Given the description of an element on the screen output the (x, y) to click on. 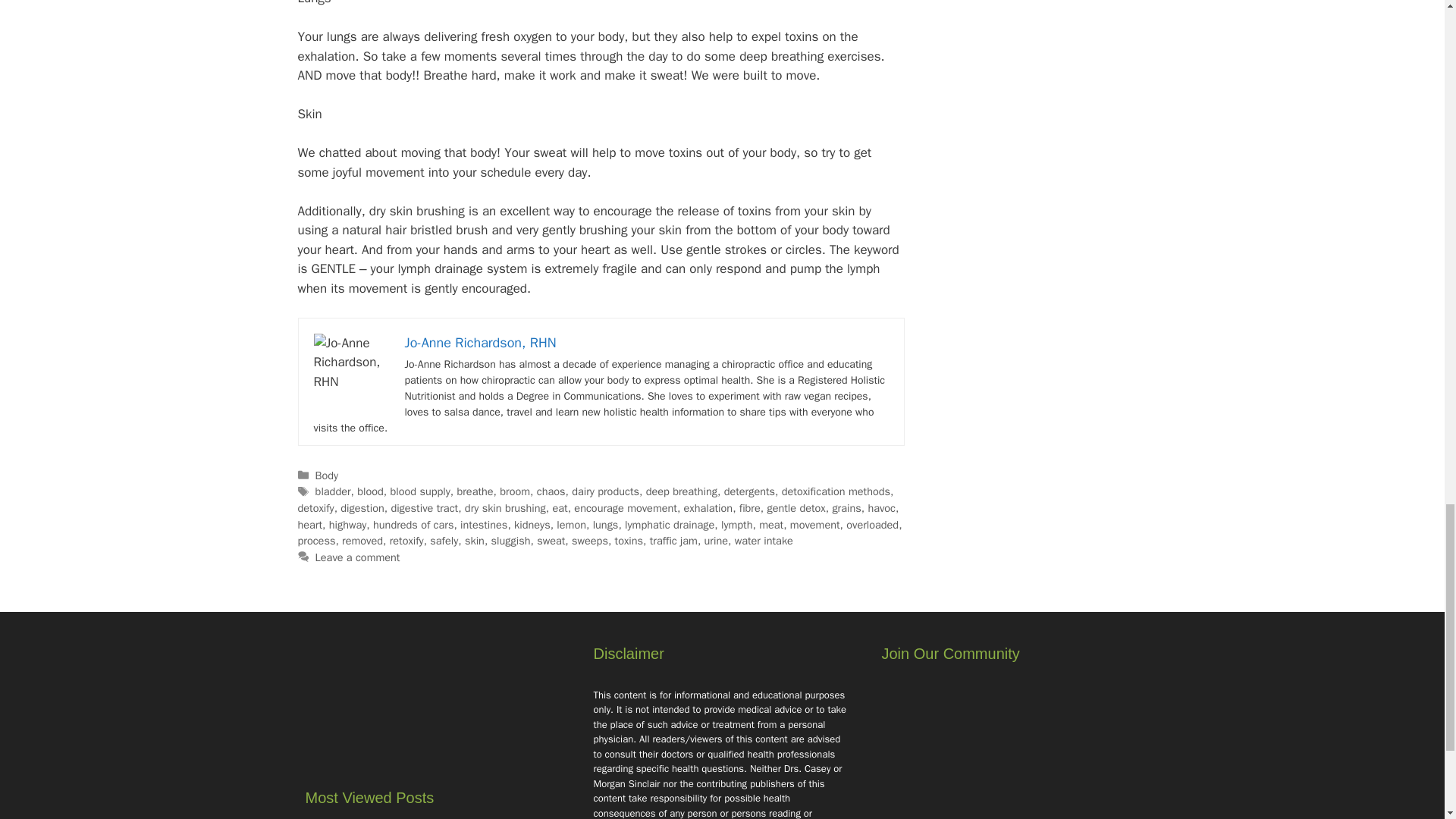
FHALogoWhite (433, 714)
